Given the description of an element on the screen output the (x, y) to click on. 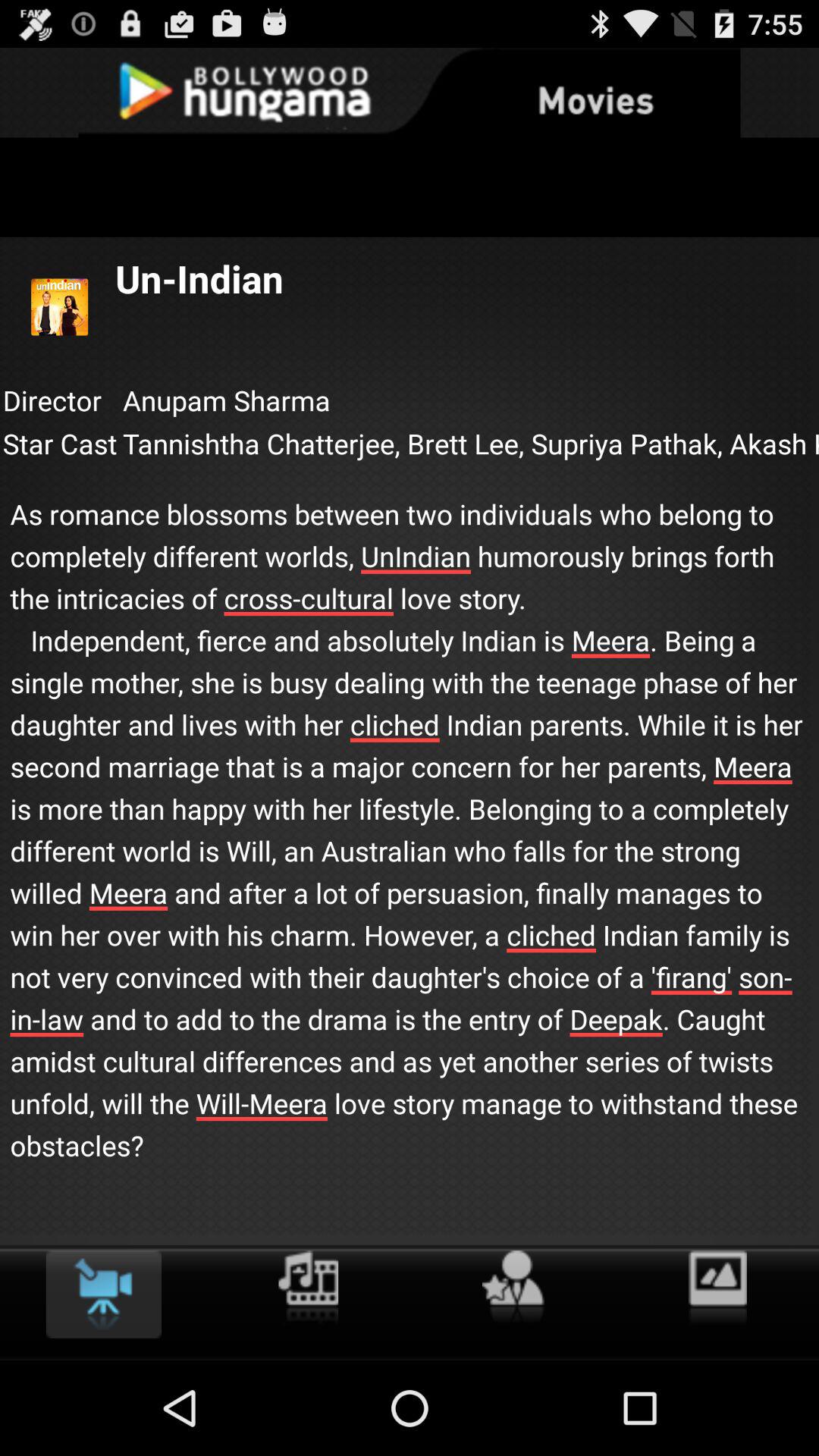
view the image (717, 1288)
